Given the description of an element on the screen output the (x, y) to click on. 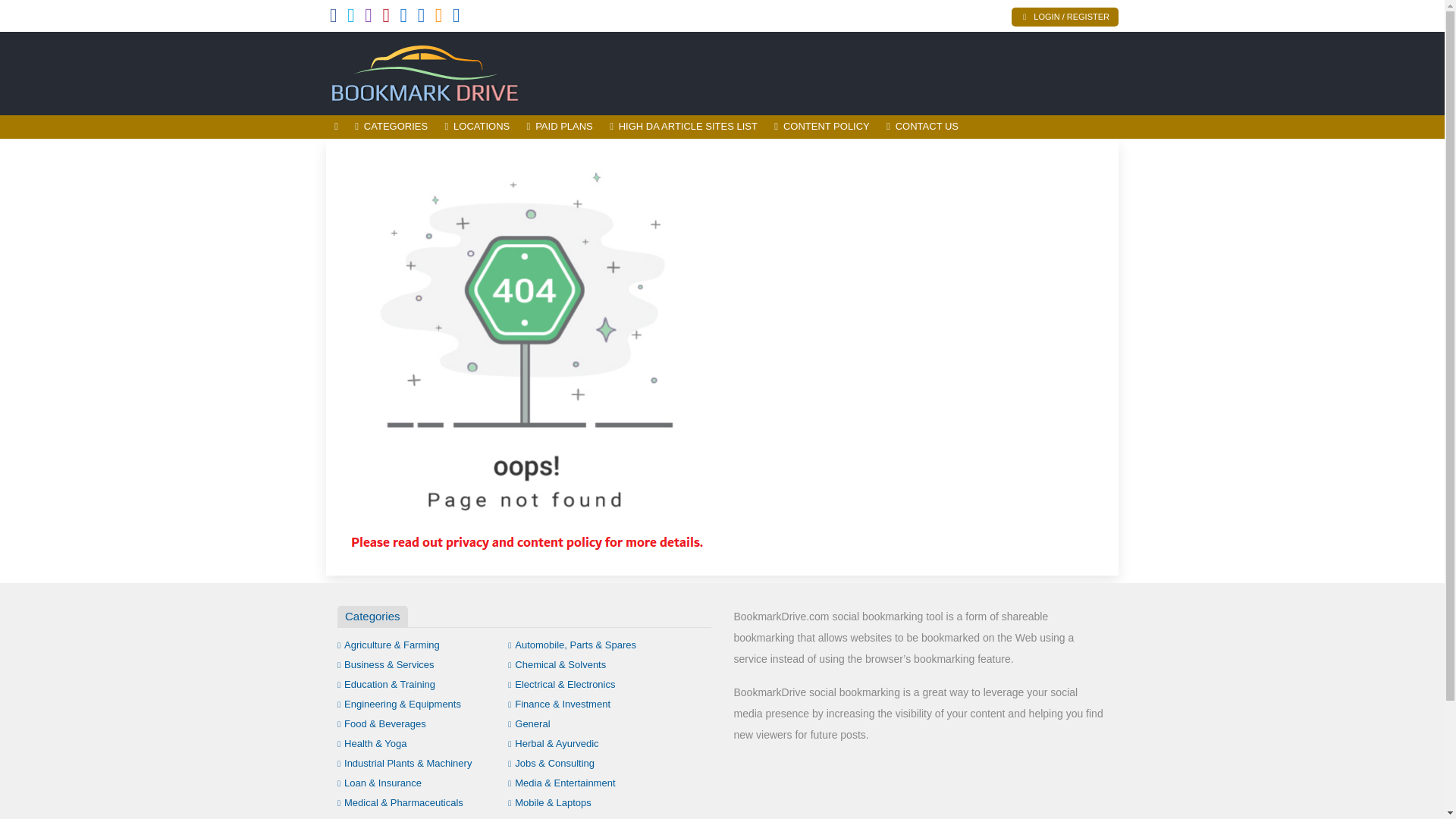
CONTACT US (921, 126)
LOCATIONS (476, 126)
PAID PLANS (559, 126)
HIGH DA ARTICLE SITES LIST (683, 126)
CONTENT POLICY (821, 126)
CATEGORIES (390, 126)
General (529, 723)
